Given the description of an element on the screen output the (x, y) to click on. 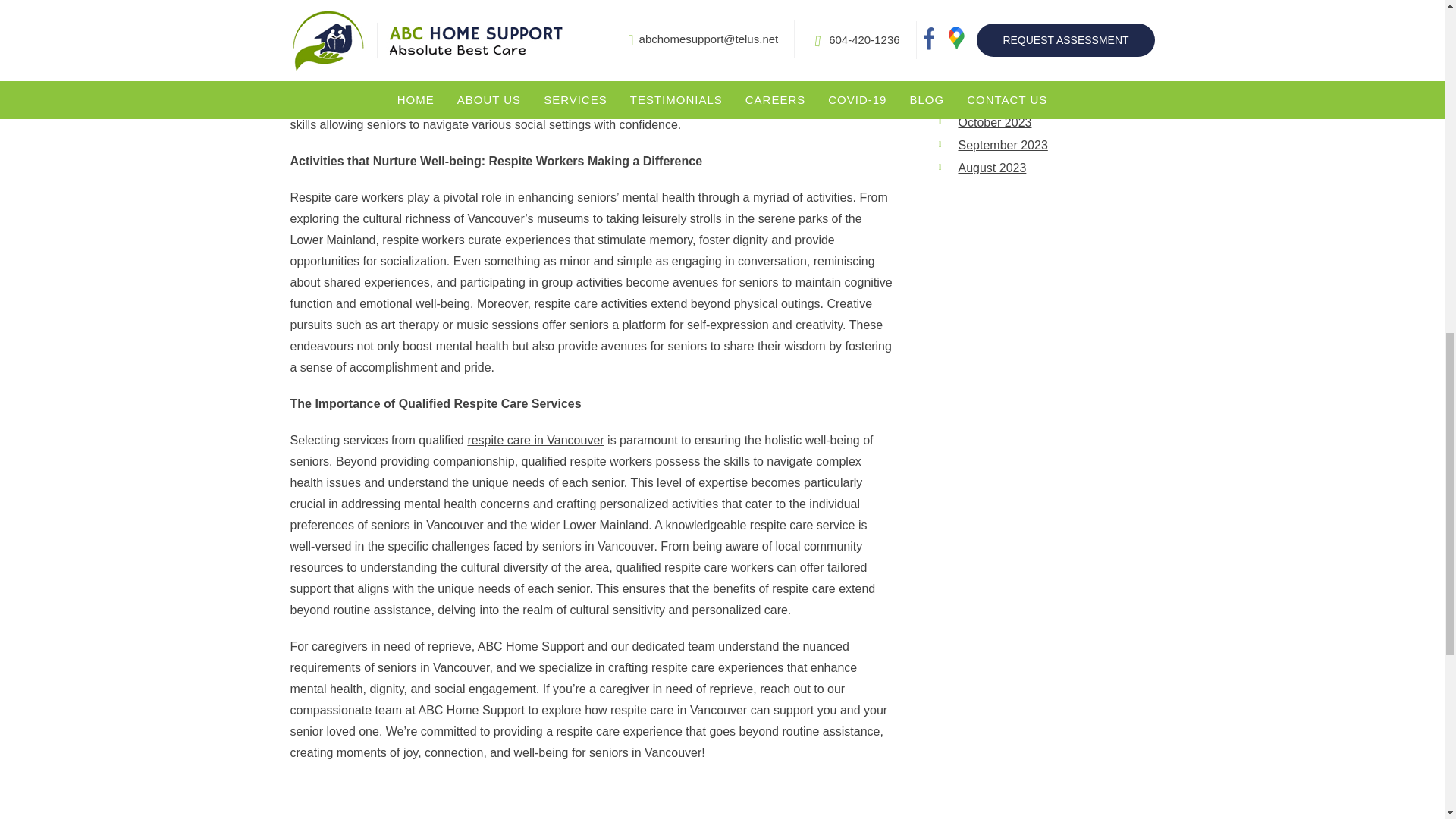
respite care in Vancouver (535, 440)
January 2024 (995, 53)
February 2024 (997, 31)
September 2023 (1003, 144)
August 2023 (992, 167)
October 2023 (995, 122)
March 2024 (990, 8)
November 2023 (1001, 99)
December 2023 (1001, 76)
